Given the description of an element on the screen output the (x, y) to click on. 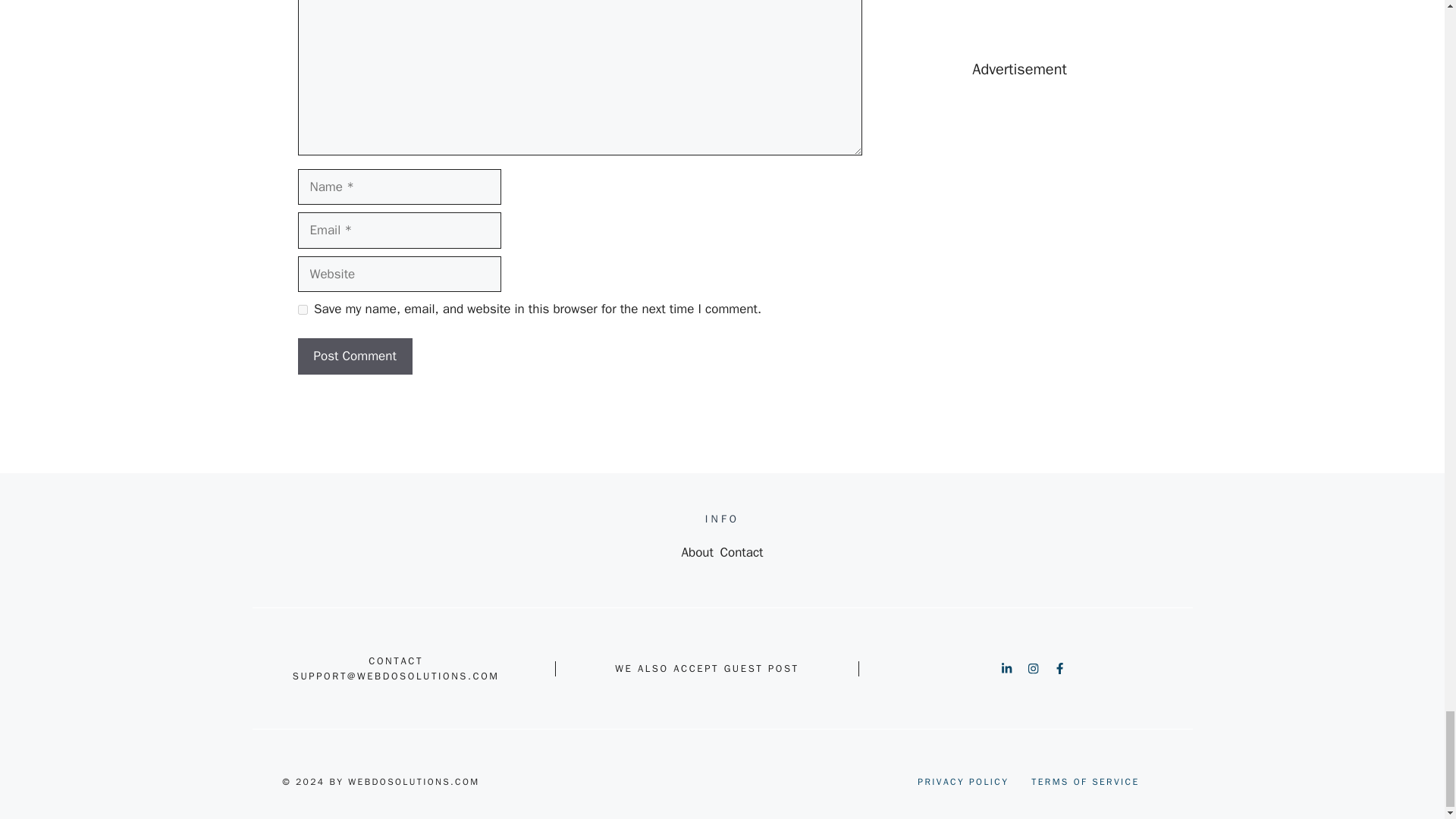
yes (302, 309)
Post Comment (354, 356)
